Given the description of an element on the screen output the (x, y) to click on. 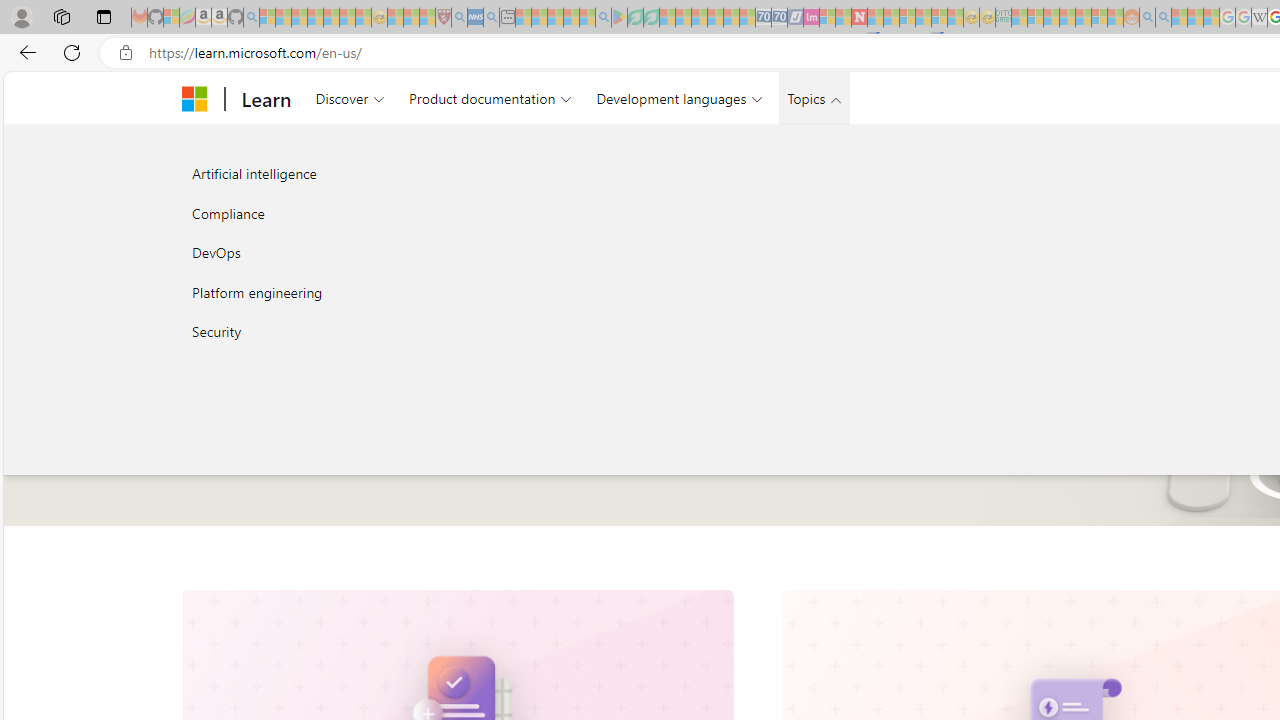
utah sues federal government - Search - Sleeping (491, 17)
